Given the description of an element on the screen output the (x, y) to click on. 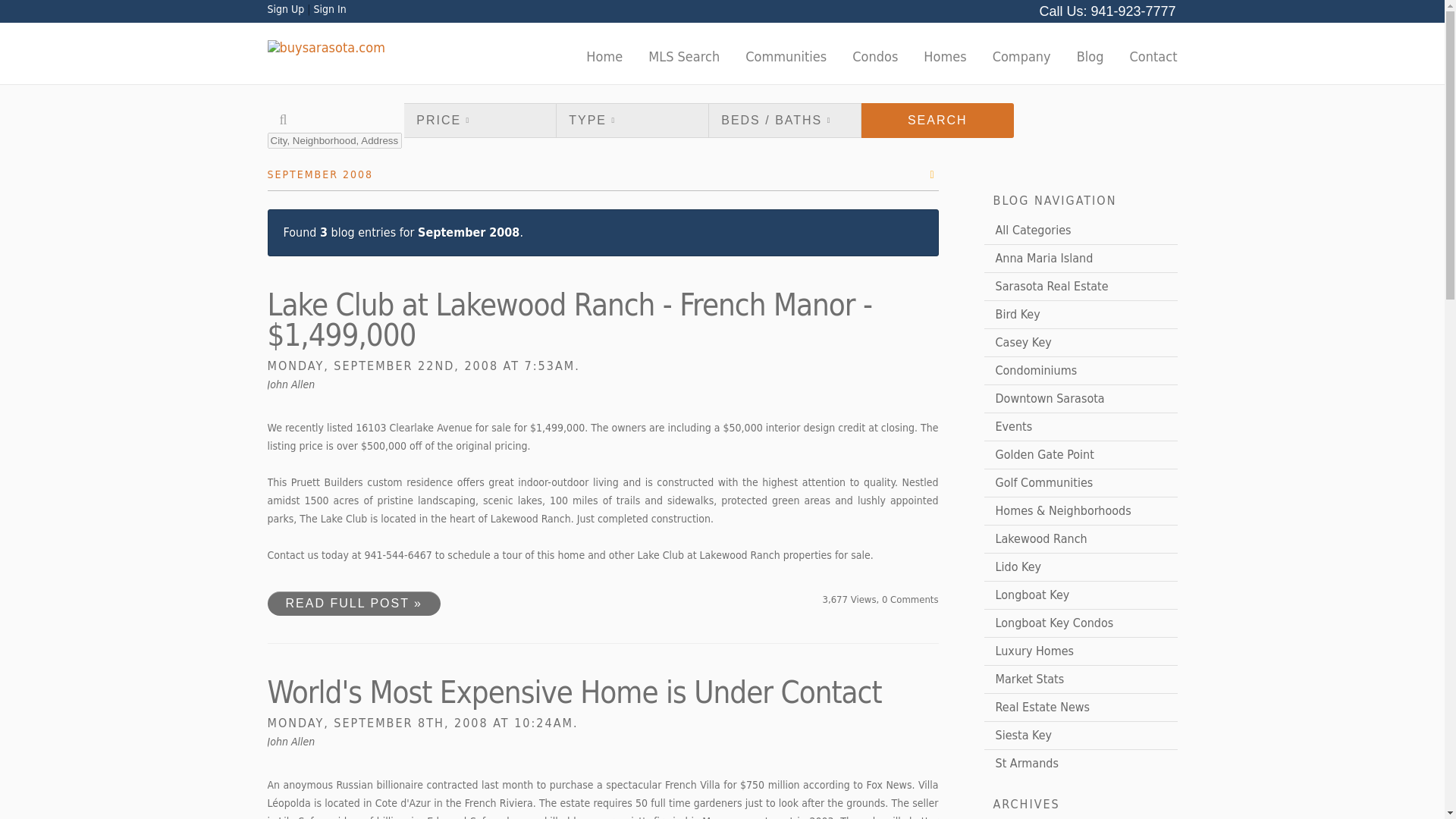
Golden Gate Point (1080, 454)
Anna Maria Island (1080, 257)
Home (604, 56)
Bird Key (1080, 314)
Homes (944, 56)
Casey Key (1080, 342)
Sarasota Real Estate (1080, 286)
All Categories (1080, 230)
Condos (874, 56)
Communities (786, 56)
Sign In (329, 9)
Lakewood Ranch (1080, 538)
Condominiums (1080, 370)
Downtown Sarasota (1080, 398)
World's Most Expensive Home is Under Contact (573, 692)
